Given the description of an element on the screen output the (x, y) to click on. 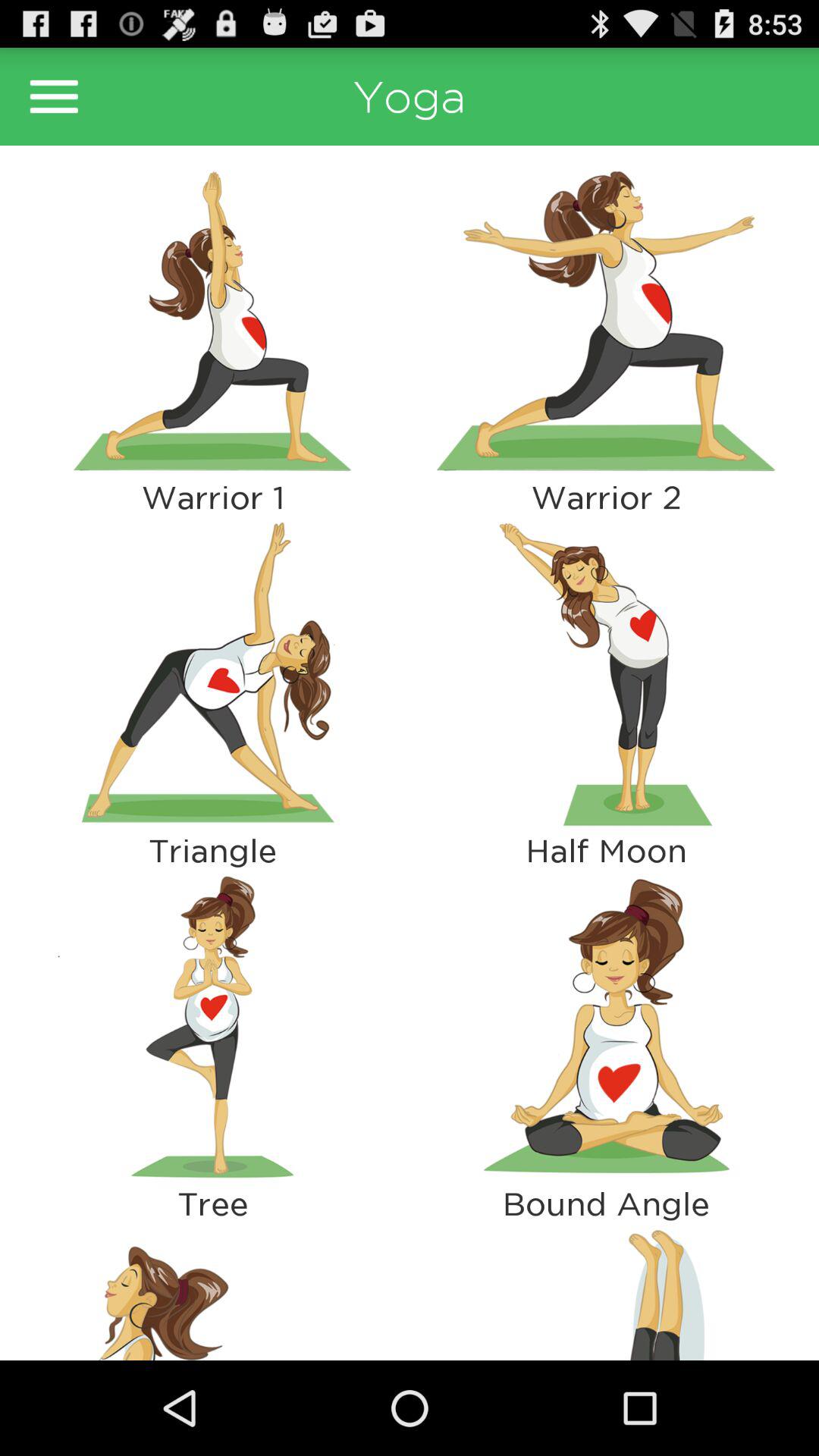
click app below tree app (606, 1290)
